Given the description of an element on the screen output the (x, y) to click on. 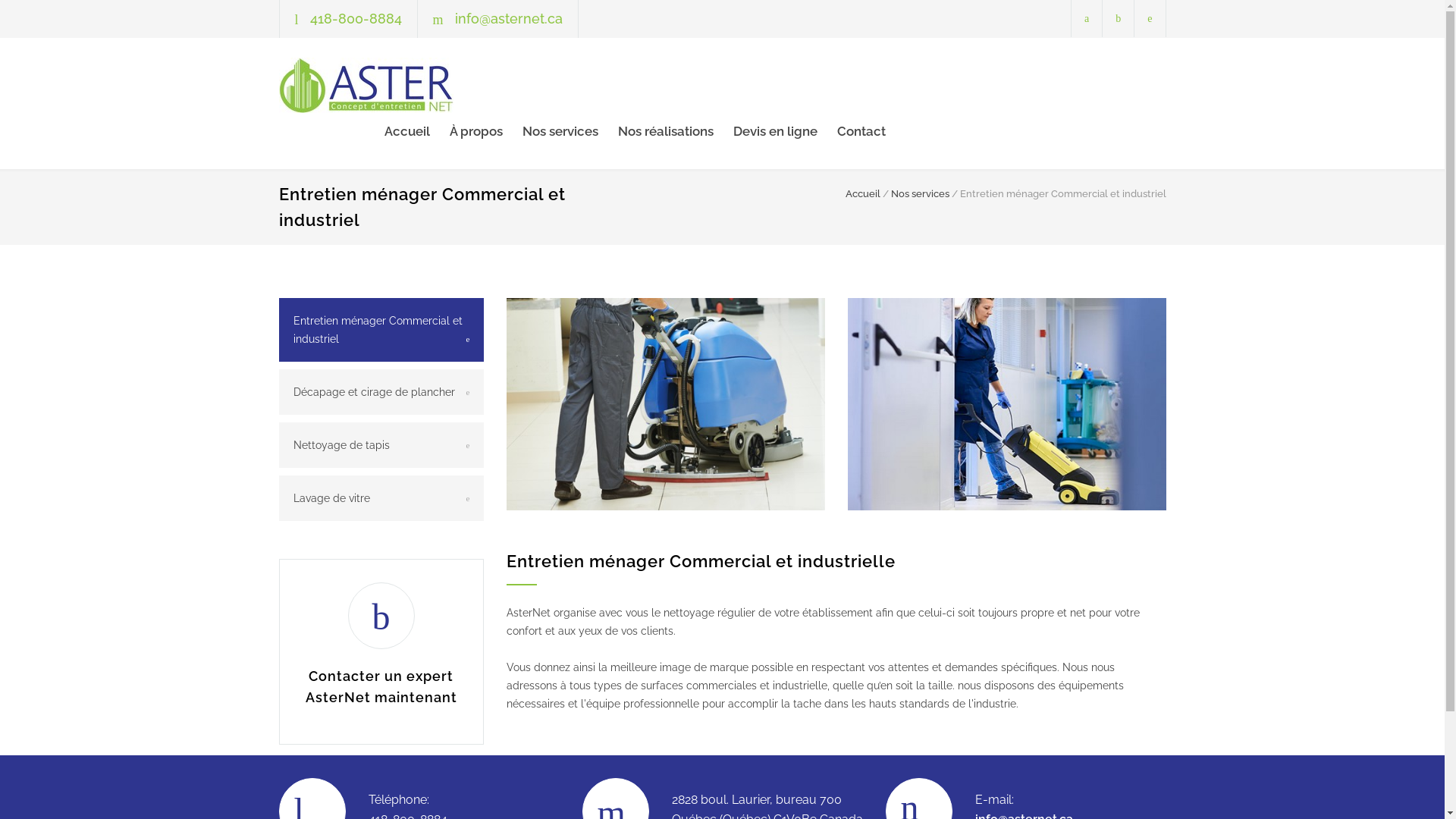
Accueil Element type: text (406, 130)
Nettoyage de tapis Element type: text (381, 444)
Accueil Element type: text (861, 193)
Lavage de vitre Element type: text (381, 497)
asternet Element type: hover (419, 84)
facebook Element type: hover (1086, 18)
Nos services Element type: text (919, 193)
twitter Element type: hover (1117, 18)
Contacter un expert AsterNet maintenant Element type: text (380, 686)
Nos services Element type: text (549, 130)
Contact Element type: text (851, 130)
linkedin Element type: hover (1149, 18)
Devis en ligne Element type: text (764, 130)
